Given the description of an element on the screen output the (x, y) to click on. 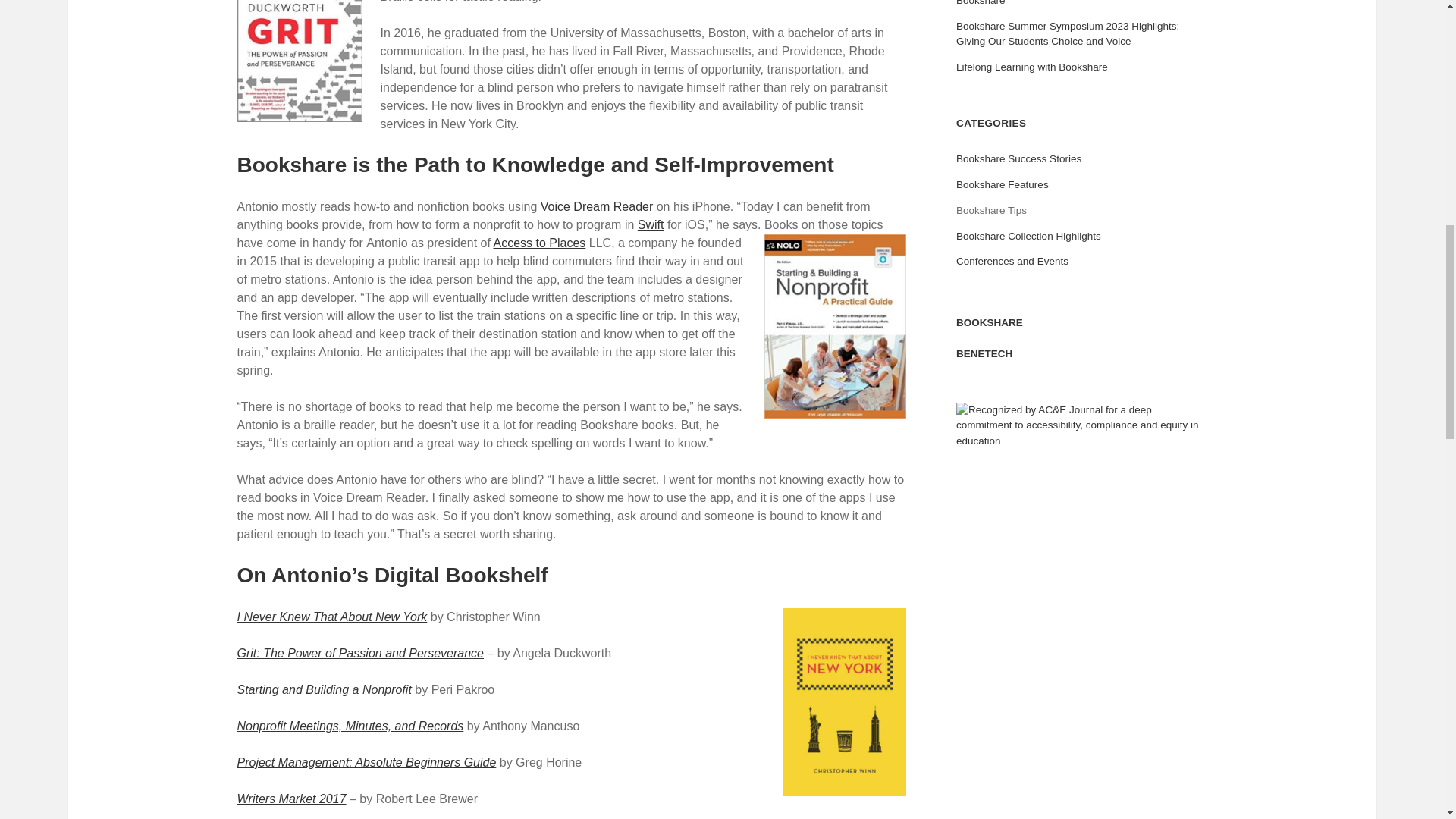
Access to Places (539, 242)
Voice Dream Reader (596, 205)
Writers Market 2017 (290, 798)
Nonprofit Meetings, Minutes, and Records (349, 725)
Swift (650, 224)
Starting and Building a Nonprofit (322, 689)
Grit: The Power of Passion and Perseverance (359, 653)
I Never Knew That About New York (330, 616)
Project Management: Absolute Beginners Guide (365, 762)
